Given the description of an element on the screen output the (x, y) to click on. 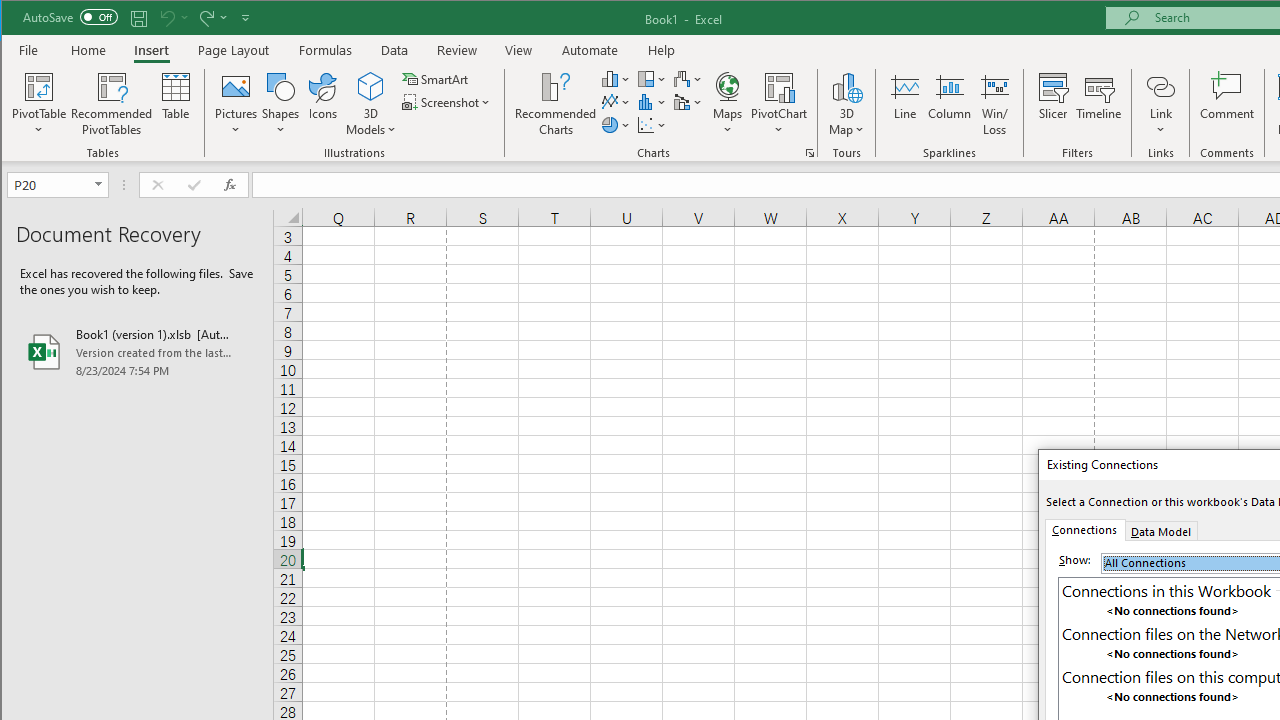
AutoSave (70, 16)
Review (456, 50)
Line (904, 104)
3D Map (846, 86)
Shapes (280, 104)
Insert Combo Chart (688, 101)
Link (1160, 104)
Recommended PivotTables (111, 104)
Insert Hierarchy Chart (652, 78)
Customize Quick Access Toolbar (245, 17)
Connections (1083, 529)
Insert Line or Area Chart (616, 101)
Column (949, 104)
